Given the description of an element on the screen output the (x, y) to click on. 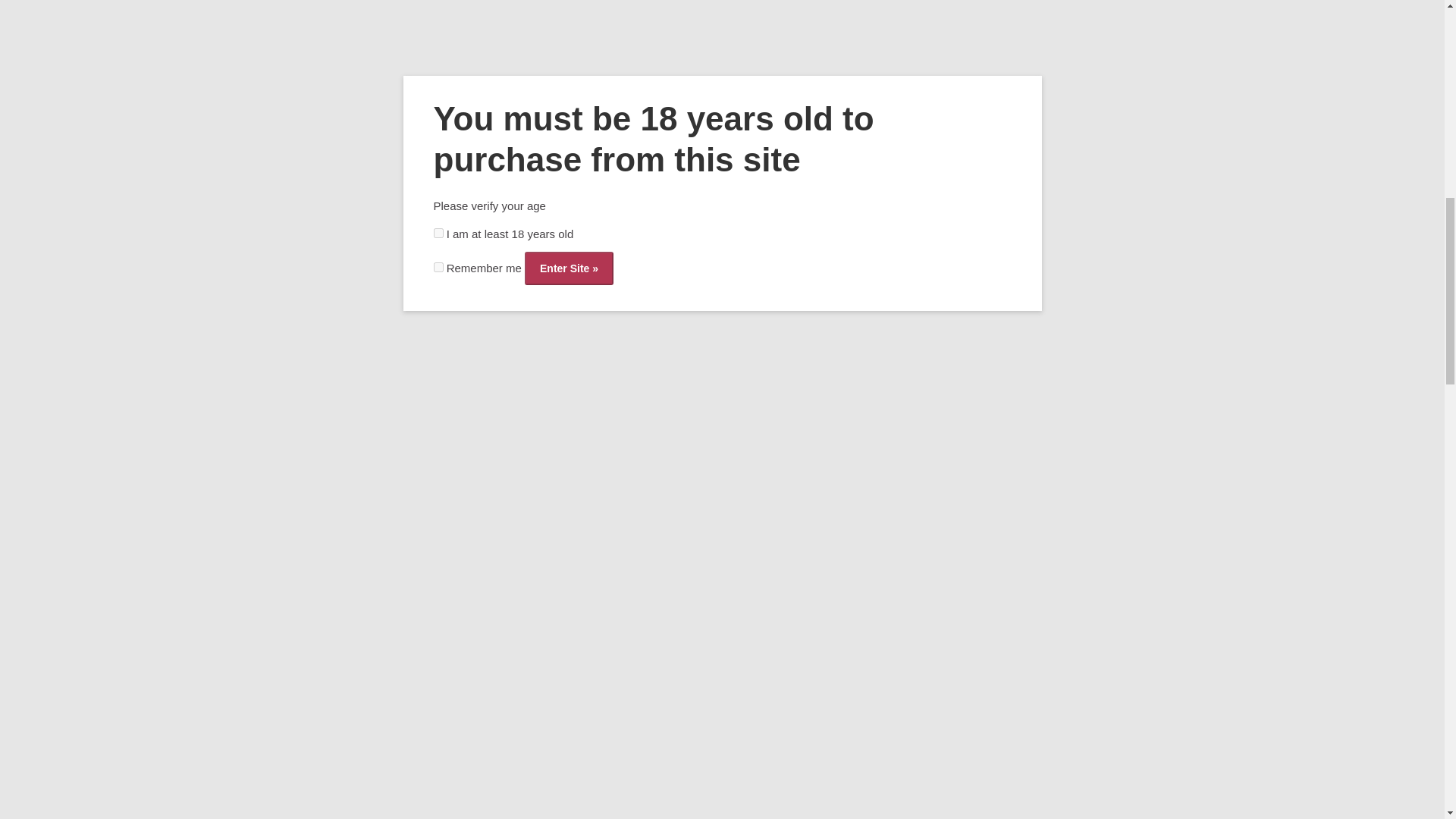
1 (655, 1)
